Given the description of an element on the screen output the (x, y) to click on. 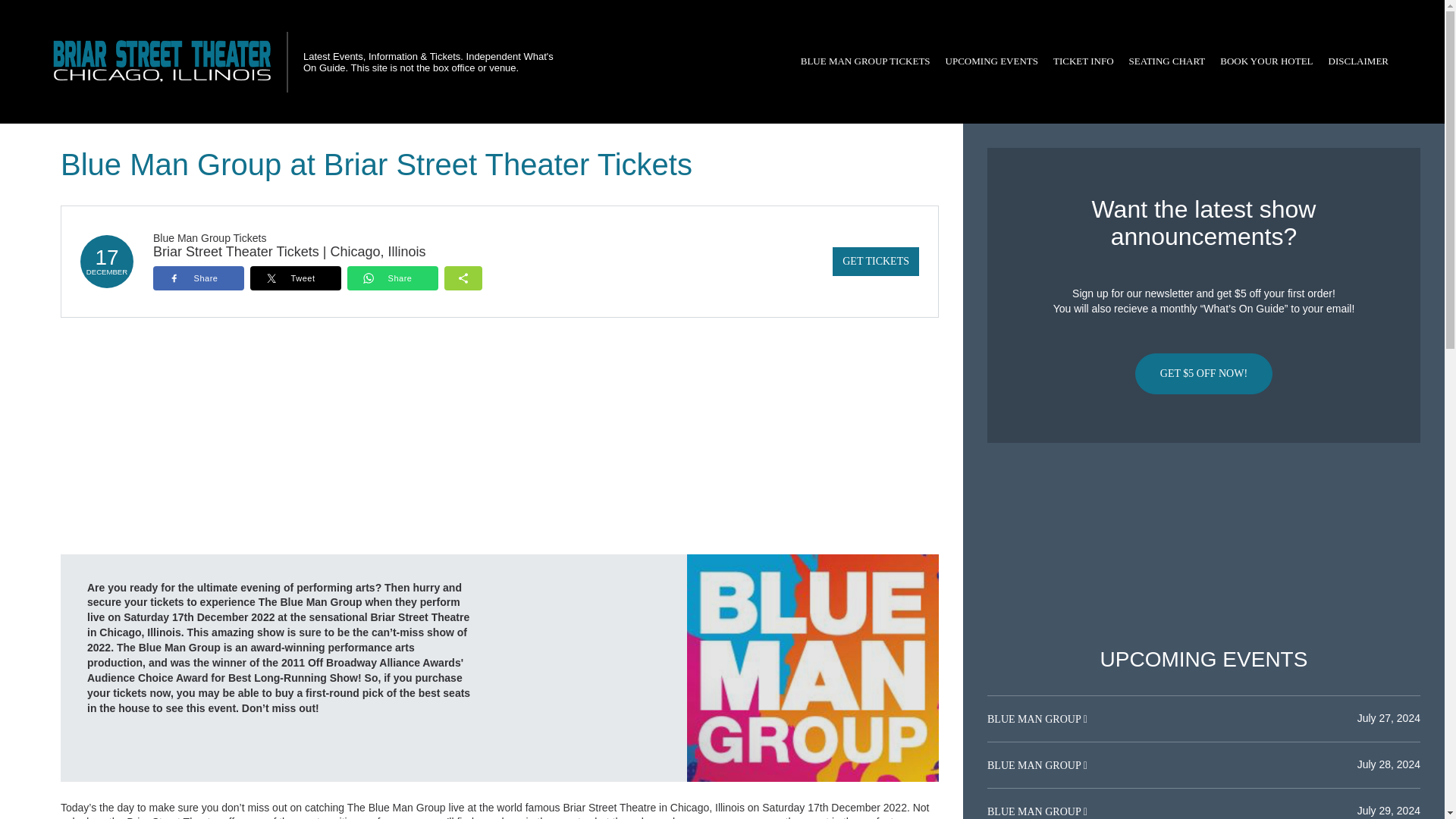
TICKET INFO (1083, 61)
BOOK YOUR HOTEL (1266, 61)
BLUE MAN GROUP TICKETS (865, 61)
Blue Man Group at Briar Street Theater (813, 667)
Advertisement (1204, 545)
DISCLAIMER (1358, 61)
SEATING CHART (1166, 61)
GET TICKETS (875, 261)
Blue Man Group Tickets (209, 237)
UPCOMING EVENTS (991, 61)
